Given the description of an element on the screen output the (x, y) to click on. 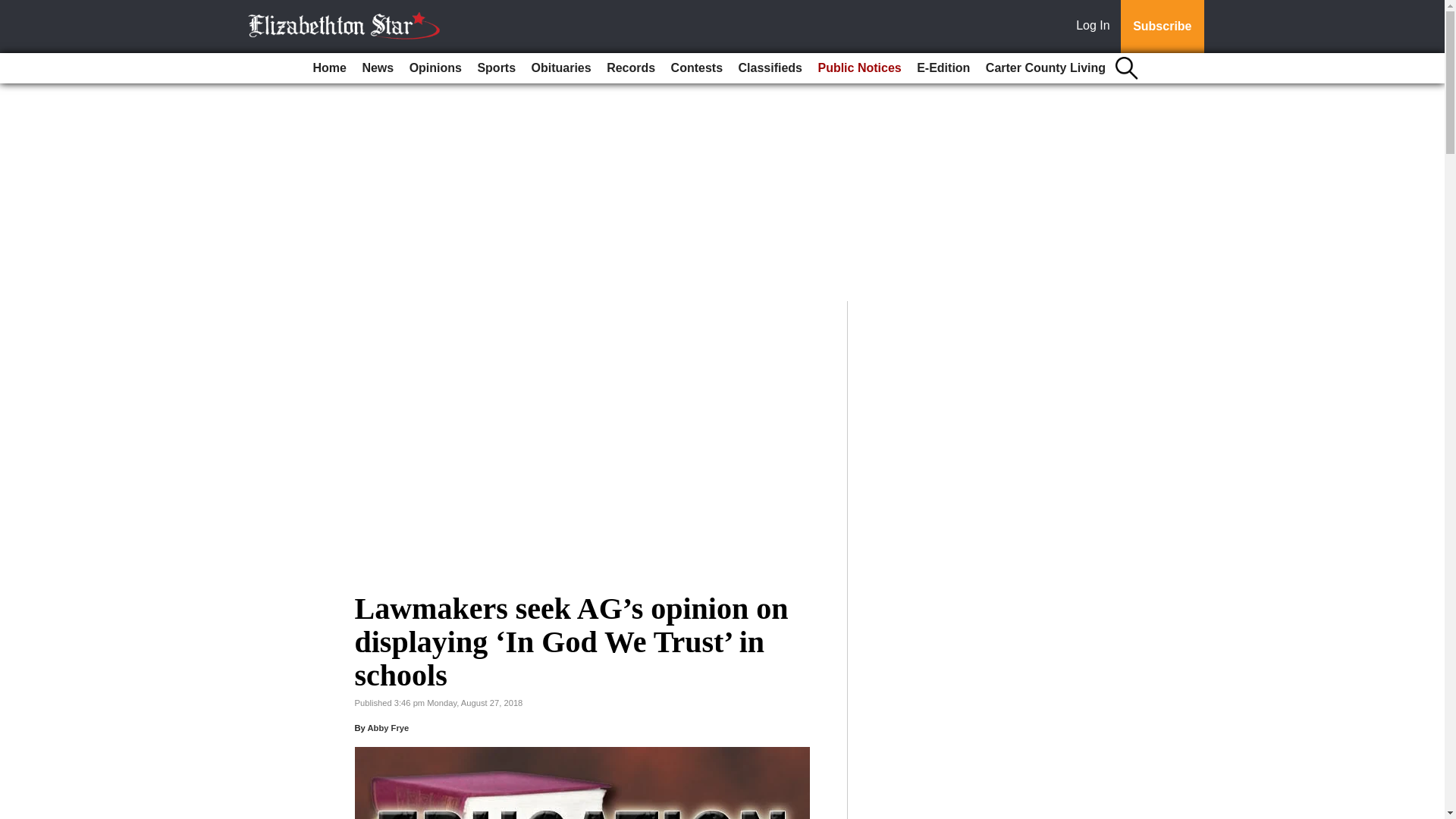
Go (13, 9)
Classifieds (770, 68)
Records (630, 68)
News (376, 68)
Sports (495, 68)
E-Edition (943, 68)
Contests (697, 68)
Public Notices (858, 68)
Abby Frye (387, 727)
Obituaries (560, 68)
Subscribe (1162, 26)
Log In (1095, 26)
Home (328, 68)
Carter County Living (1045, 68)
Opinions (435, 68)
